Given the description of an element on the screen output the (x, y) to click on. 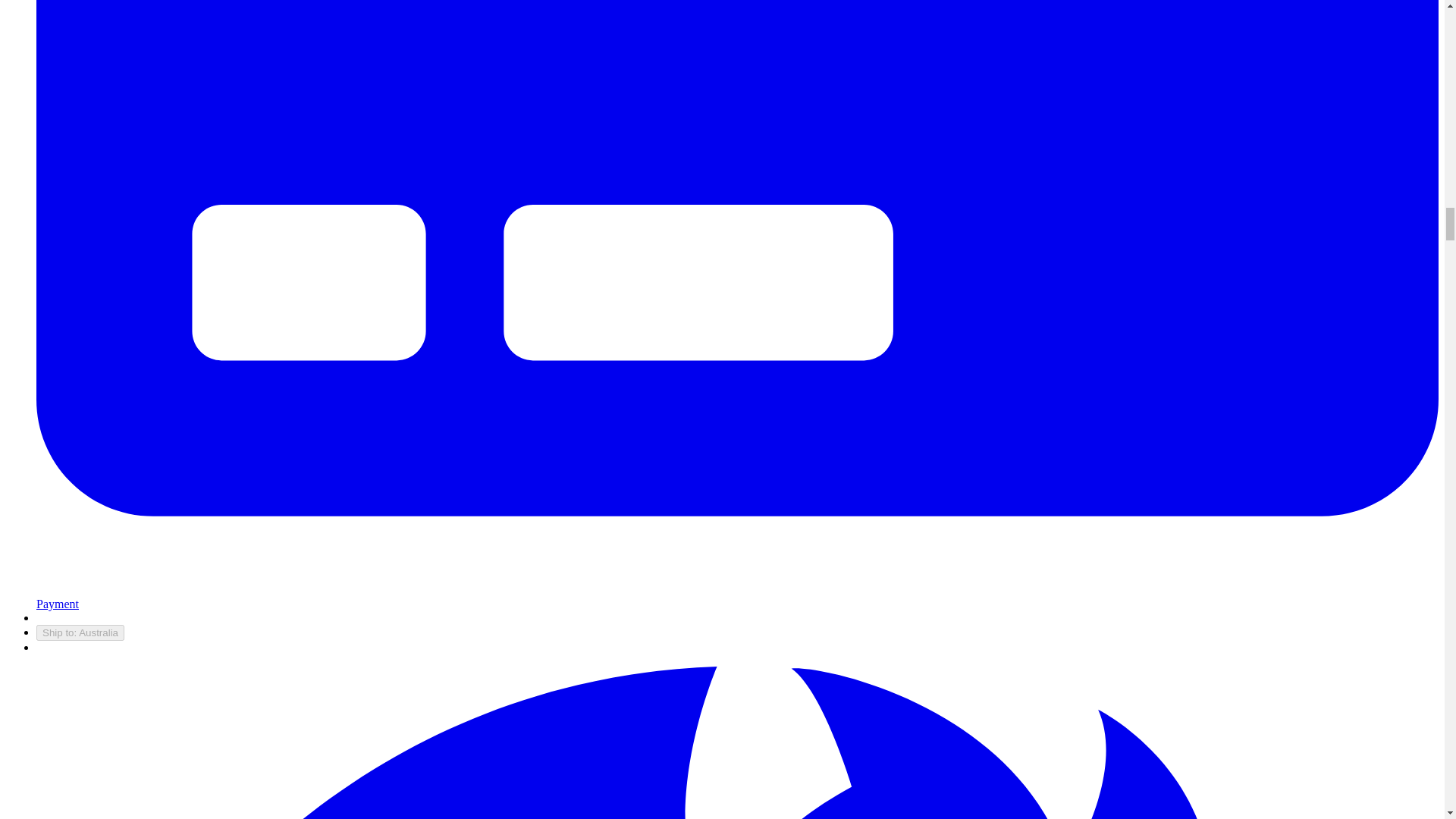
Ship to: Australia (79, 632)
